Given the description of an element on the screen output the (x, y) to click on. 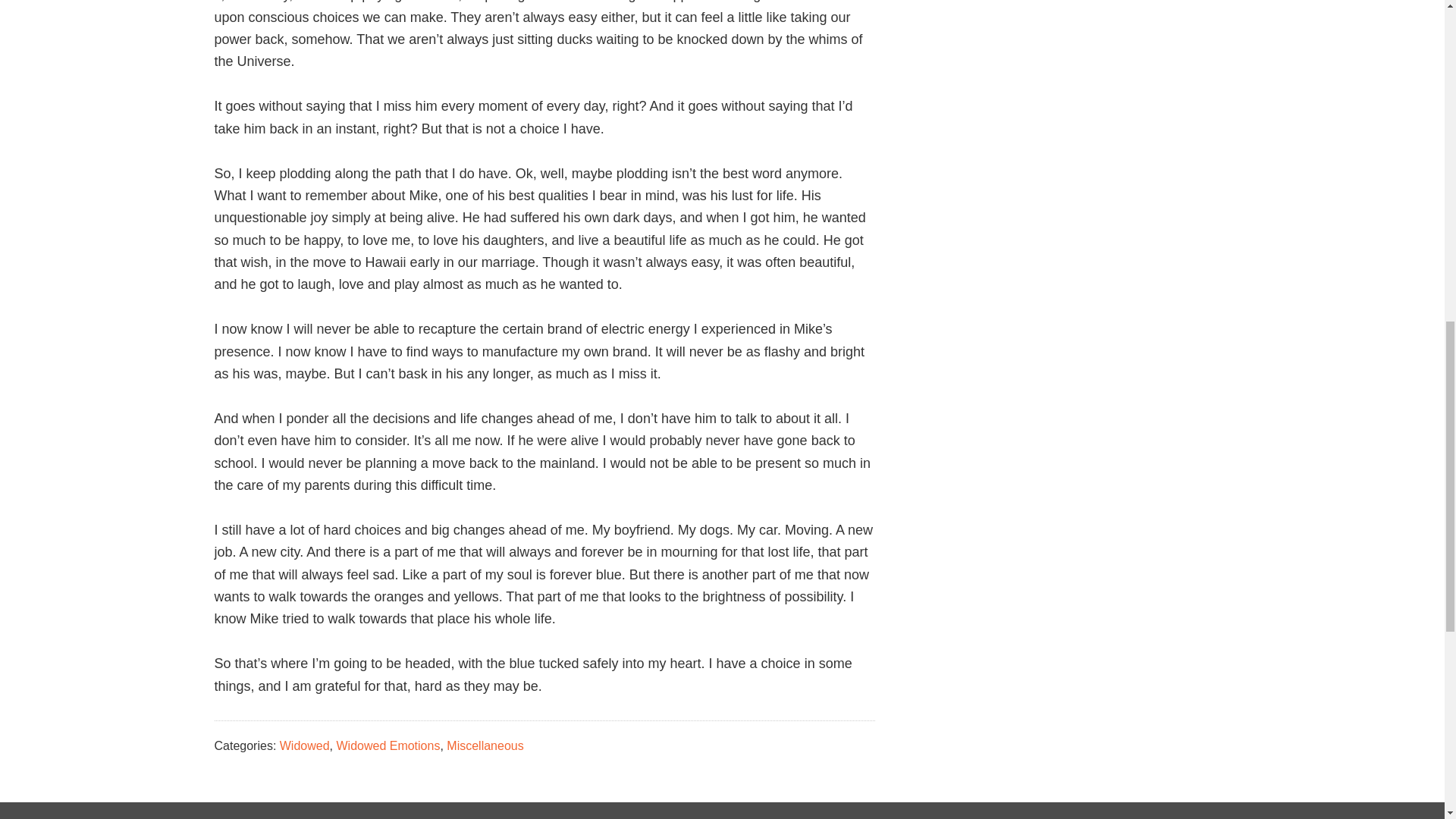
Widowed Emotions (387, 745)
Widowed (304, 745)
Miscellaneous (484, 745)
